Given the description of an element on the screen output the (x, y) to click on. 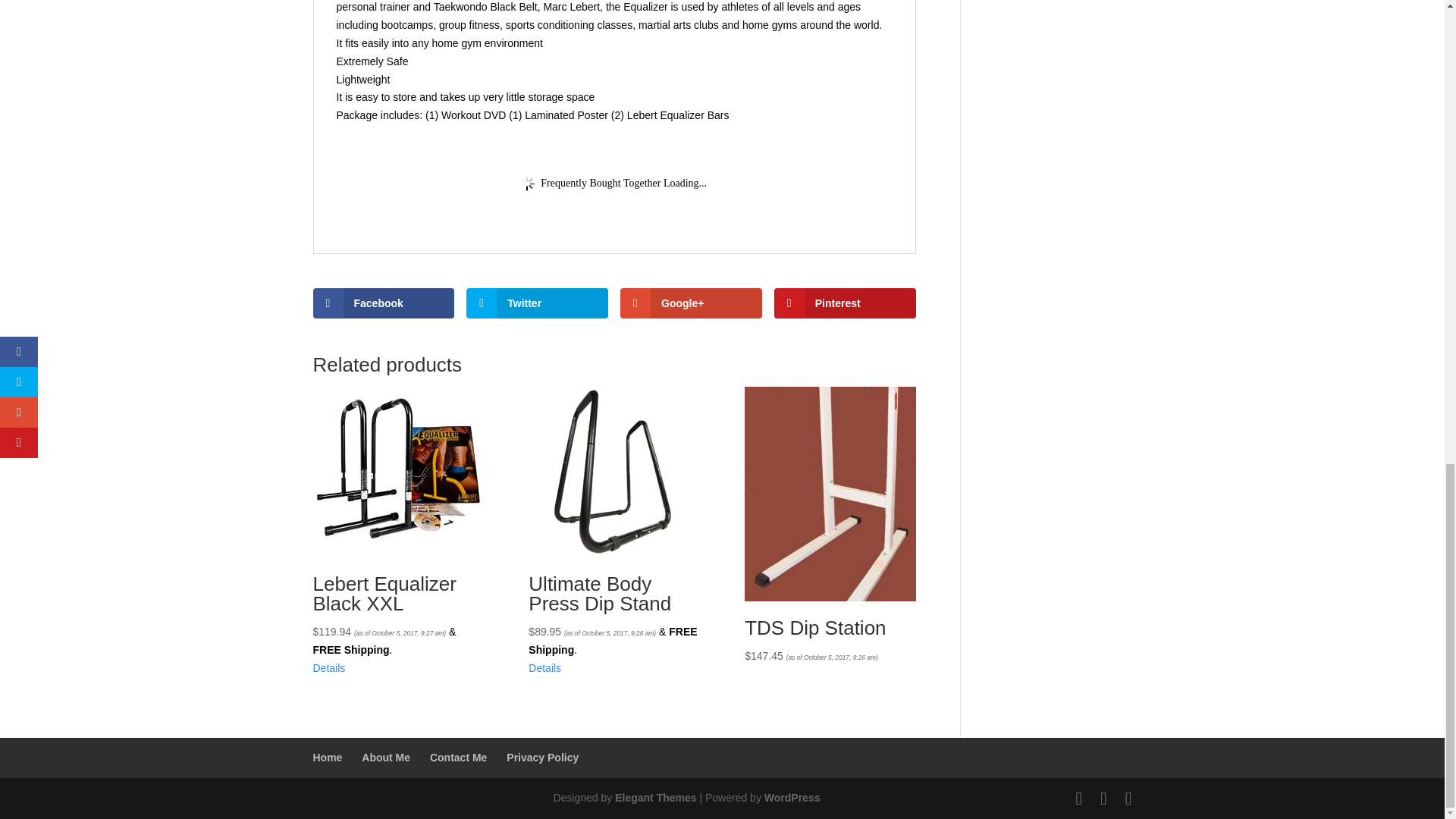
Premium WordPress Themes (654, 797)
